Given the description of an element on the screen output the (x, y) to click on. 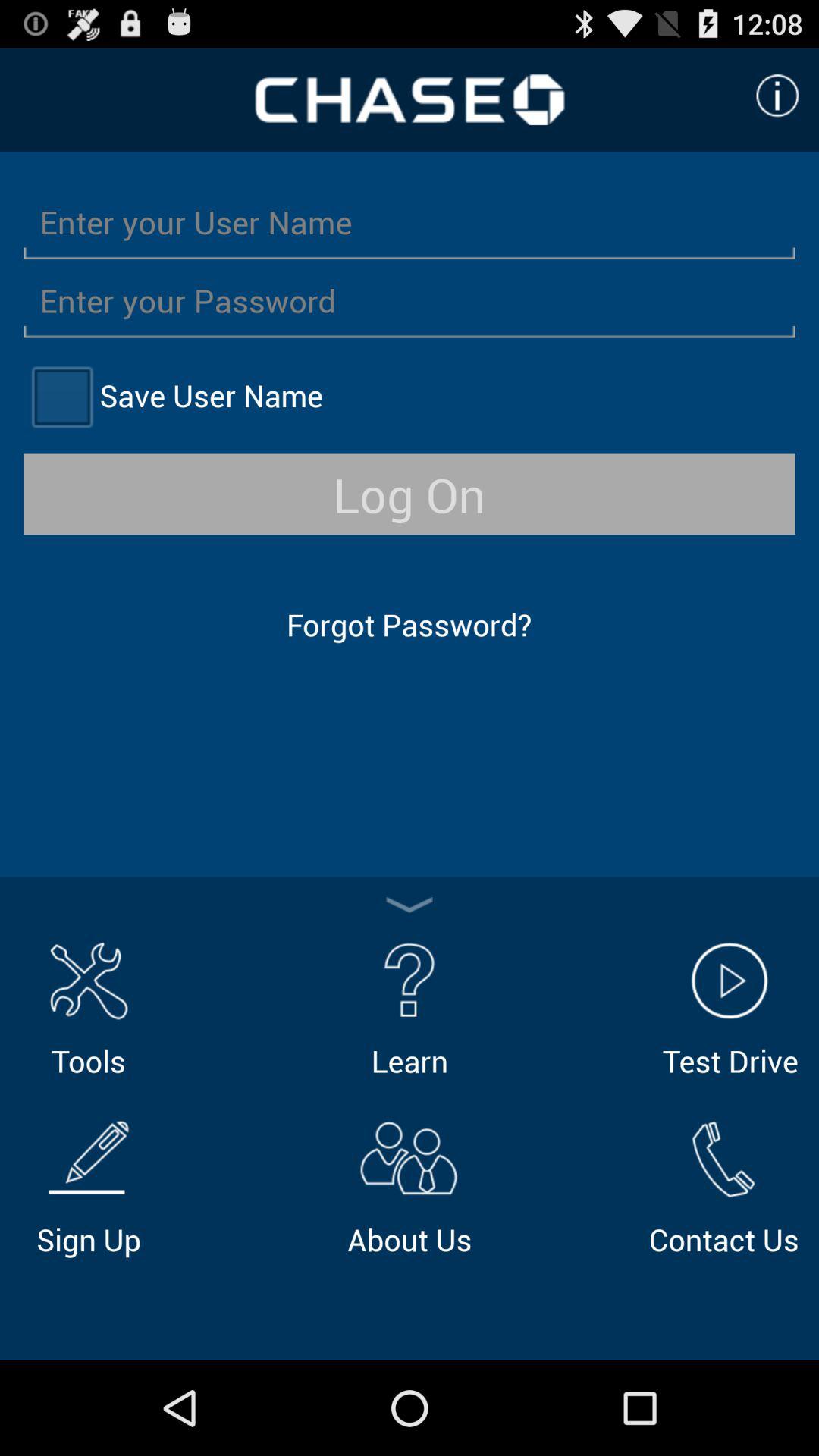
turn on the icon above log on (61, 395)
